Given the description of an element on the screen output the (x, y) to click on. 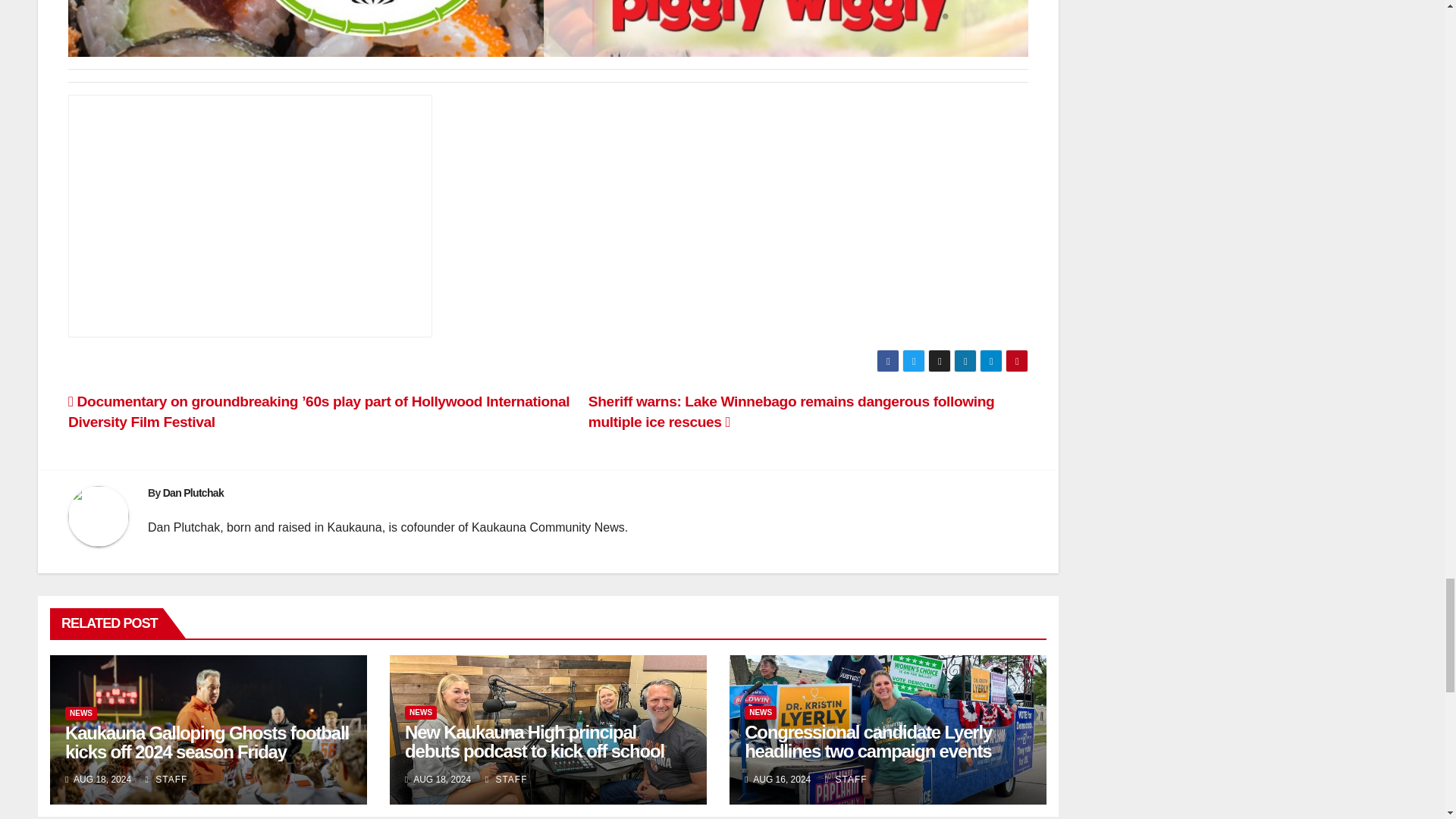
NEWS (760, 712)
STAFF (846, 778)
NEWS (420, 712)
STAFF (505, 778)
STAFF (166, 778)
